Given the description of an element on the screen output the (x, y) to click on. 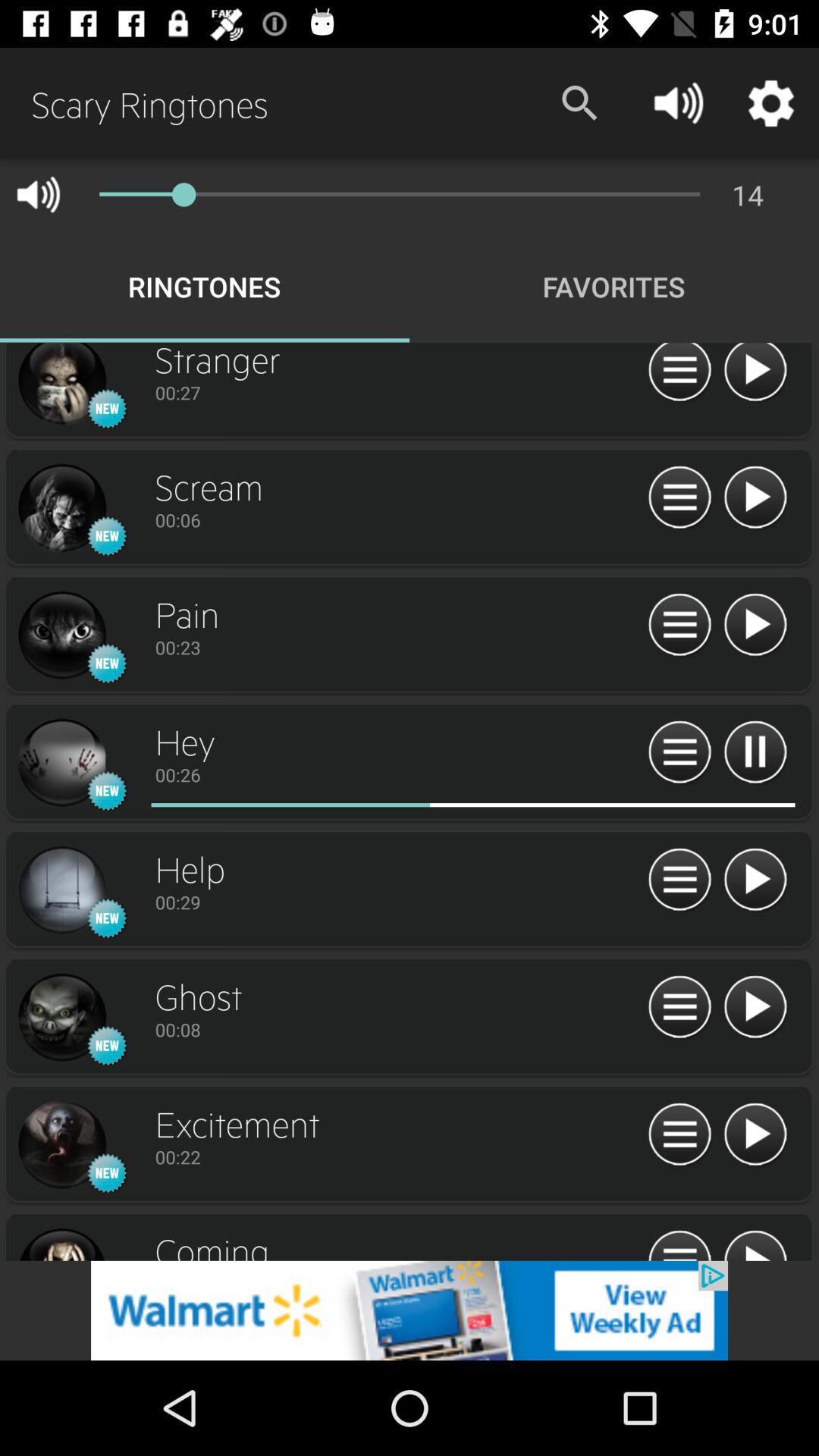
go to queue option (679, 1135)
